Given the description of an element on the screen output the (x, y) to click on. 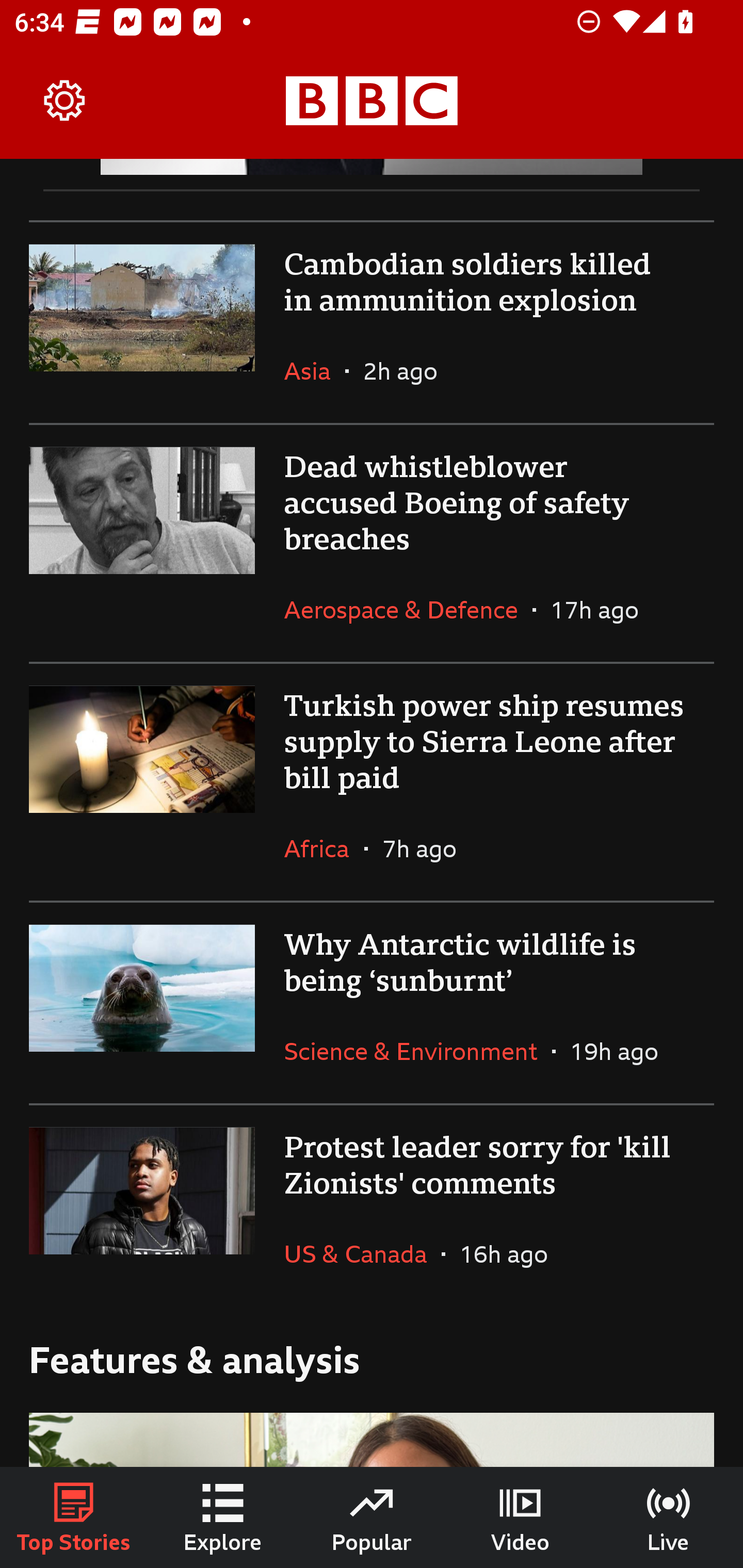
Settings (64, 100)
Asia In the section Asia (314, 370)
Africa In the section Africa (323, 848)
US & Canada In the section US & Canada (362, 1253)
Explore (222, 1517)
Popular (371, 1517)
Video (519, 1517)
Live (668, 1517)
